Given the description of an element on the screen output the (x, y) to click on. 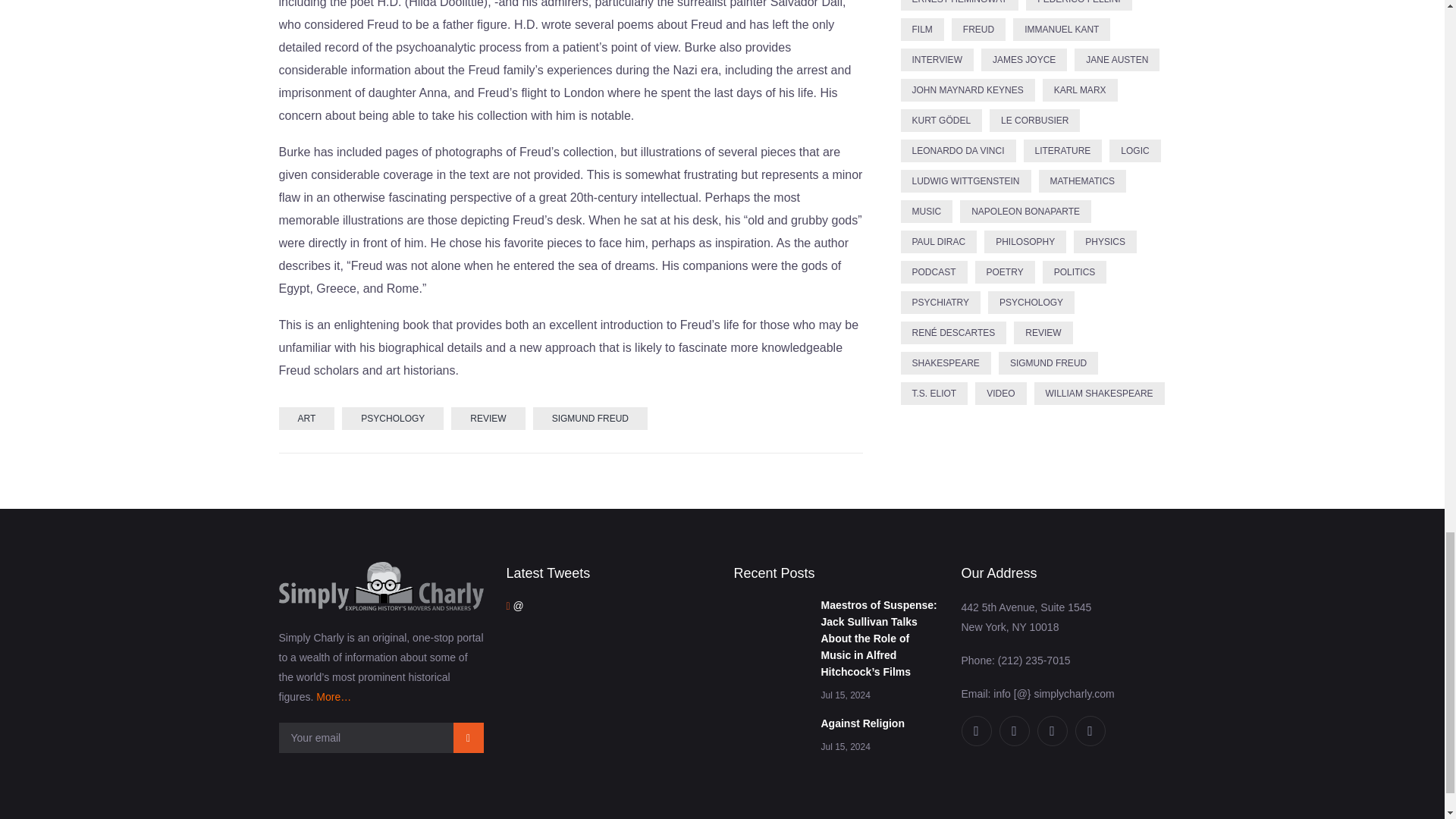
ART (306, 418)
